Given the description of an element on the screen output the (x, y) to click on. 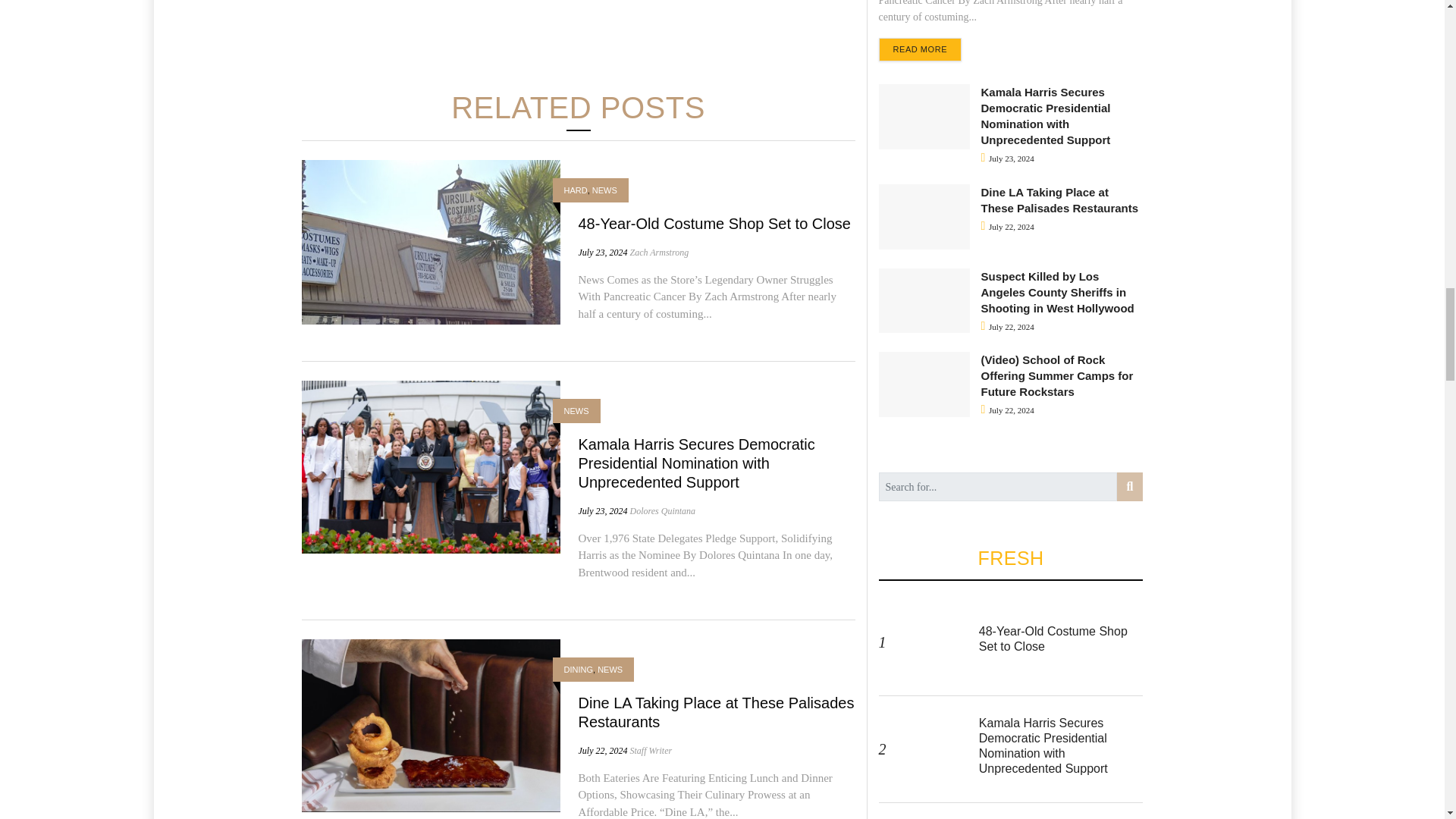
Dine LA Taking Place at These Palisades Restaurants (430, 724)
48-Year-Old Costume Shop Set to Close (430, 241)
Posts by Dolores Quintana (661, 511)
NEWS (604, 190)
Zach Armstrong (658, 252)
Posts by Staff Writer (649, 750)
48-Year-Old Costume Shop Set to Close (714, 223)
48-Year-Old Costume Shop Set to Close (714, 223)
Posts by Zach Armstrong (658, 252)
HARD (576, 190)
3rd party ad content (577, 26)
Dine LA Taking Place at These Palisades Restaurants (715, 712)
